Given the description of an element on the screen output the (x, y) to click on. 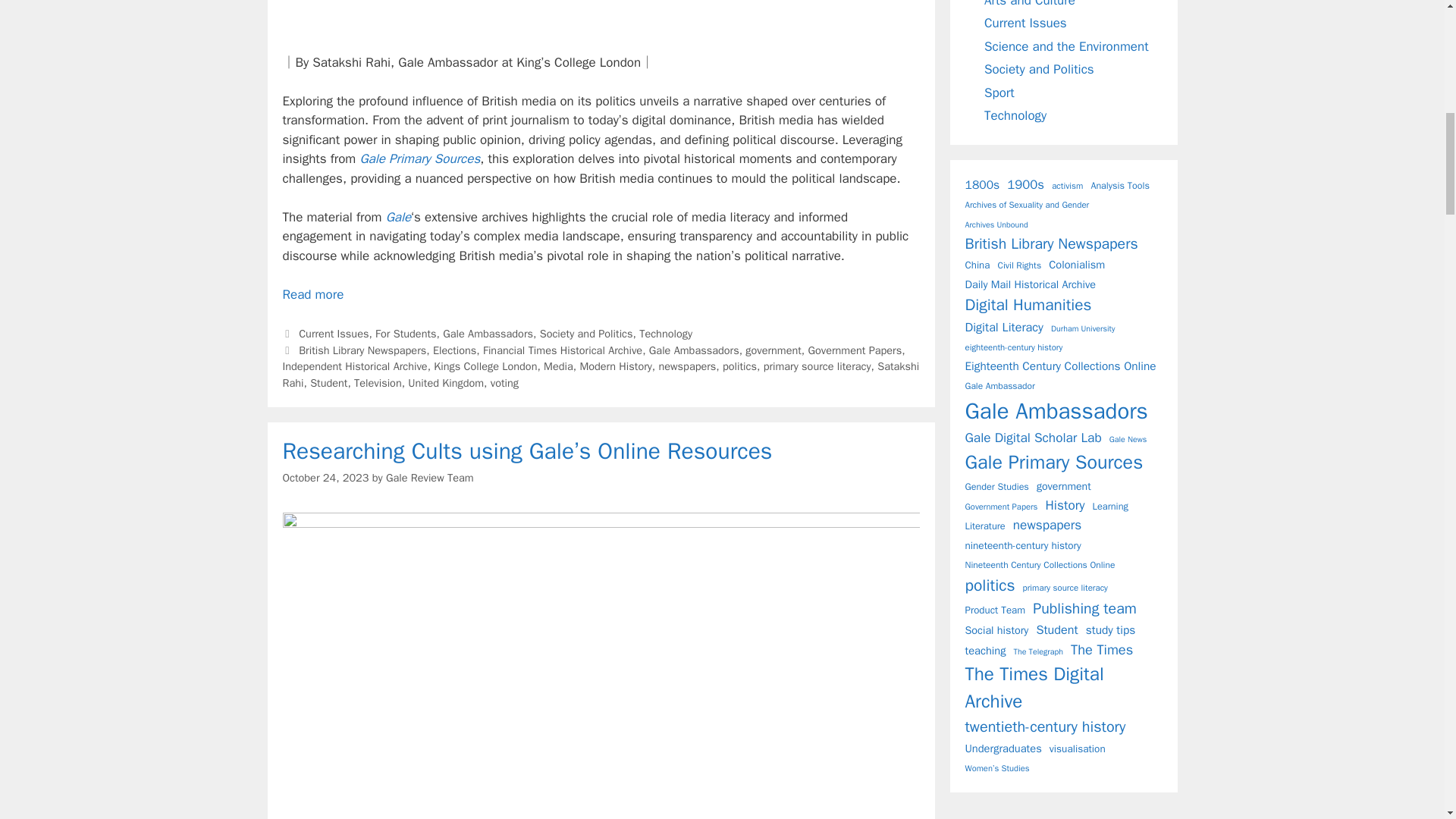
For Students (405, 333)
government (773, 350)
Media (558, 366)
politics (739, 366)
Read more (312, 294)
Current Issues (333, 333)
United Kingdom (445, 382)
newspapers (687, 366)
Student (328, 382)
Modern History (614, 366)
Government Papers (855, 350)
primary source literacy (816, 366)
Gale Ambassadors (694, 350)
Kings College London (485, 366)
